Given the description of an element on the screen output the (x, y) to click on. 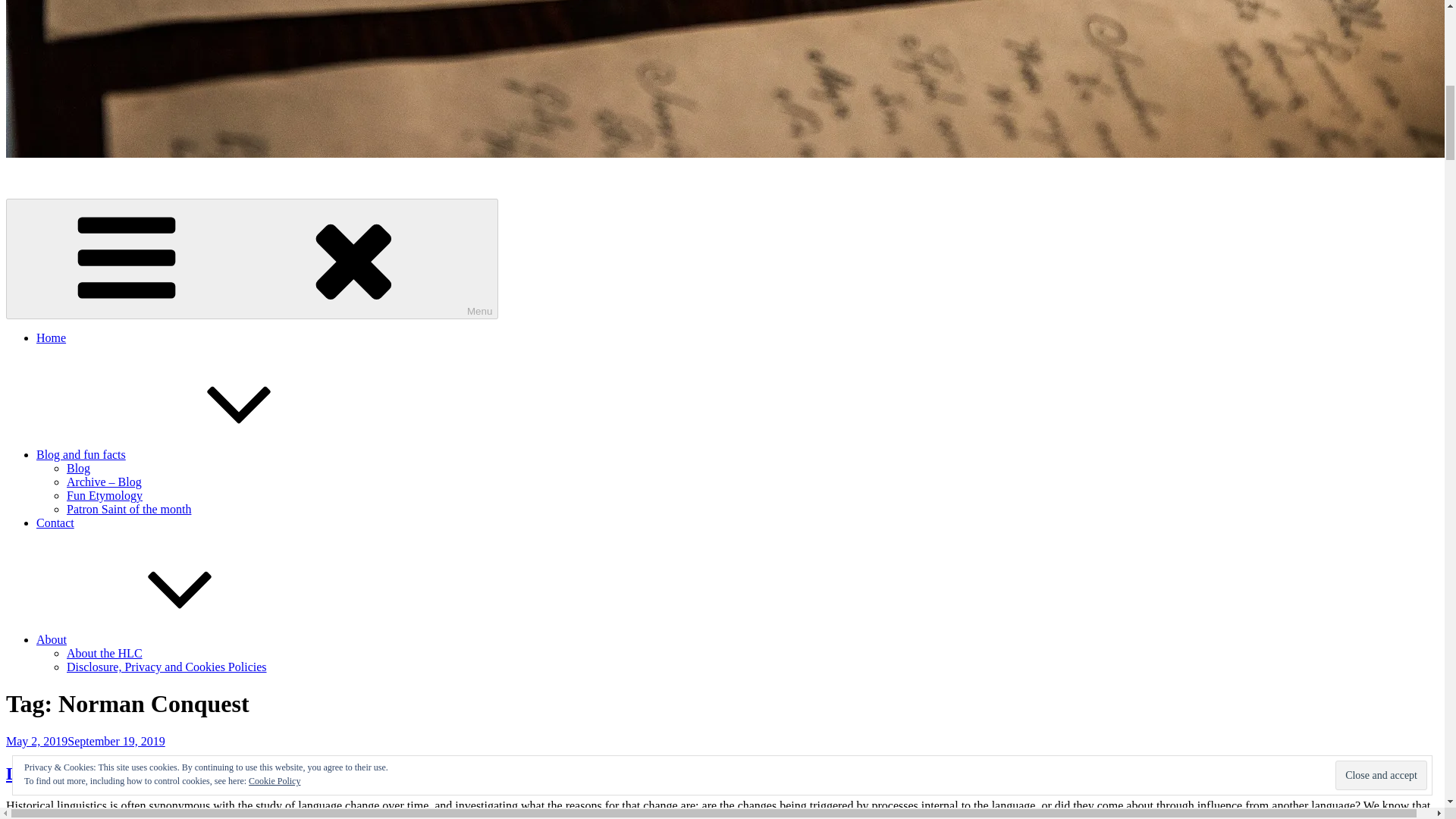
Home (50, 337)
Blog (78, 468)
About the HLC (104, 653)
Menu (251, 259)
Contact (55, 522)
The Historical Linguist Channel (84, 178)
Patron Saint of the month (128, 508)
Fun Etymology (104, 495)
May 2, 2019September 19, 2019 (85, 740)
Blog and fun facts (194, 454)
Disclosure, Privacy and Cookies Policies (166, 666)
About (165, 639)
